Given the description of an element on the screen output the (x, y) to click on. 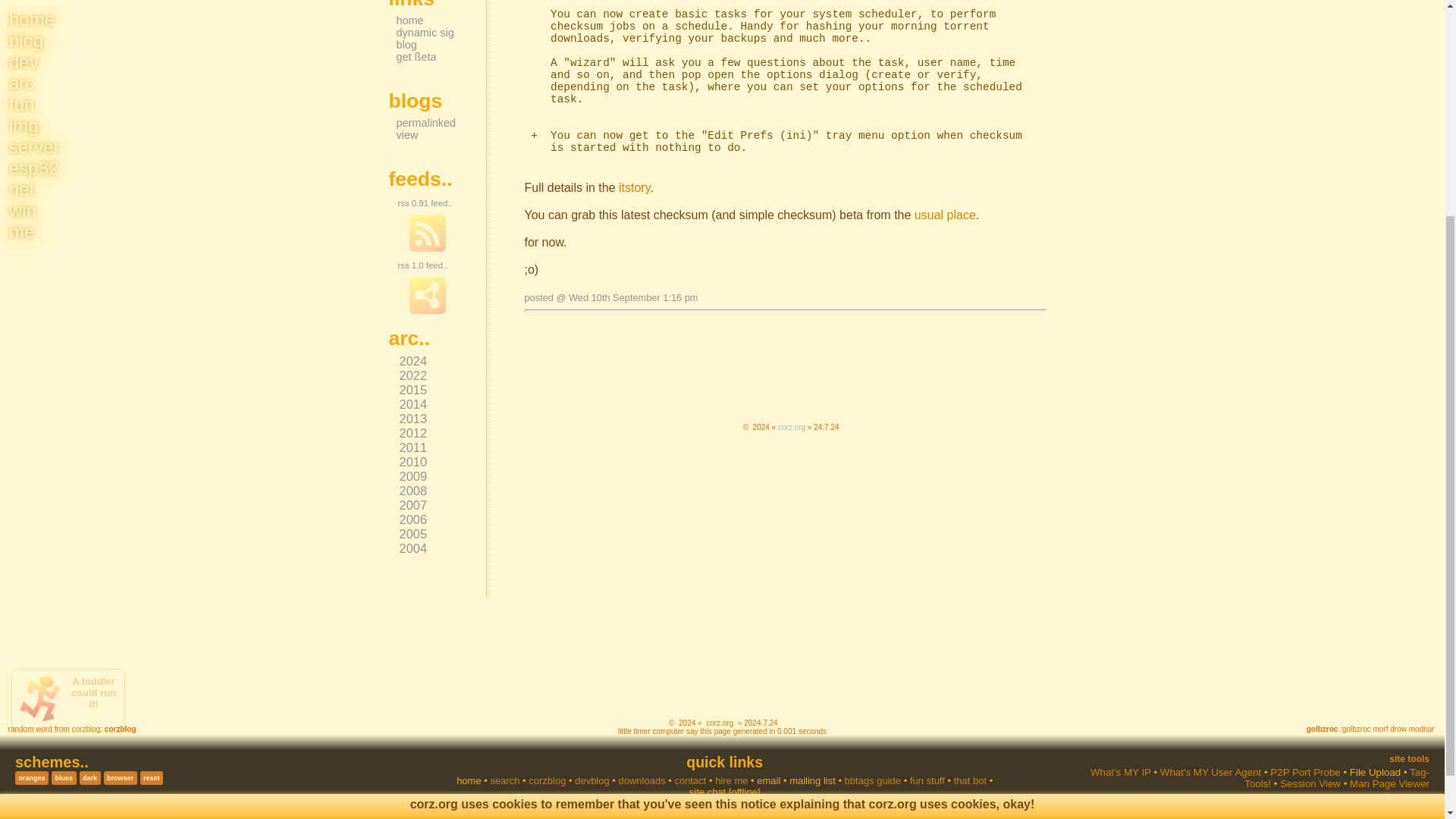
itstory (633, 187)
rss 1.0 feed.. (421, 265)
permalinked view (425, 128)
home (409, 20)
reset (151, 777)
powered by corzblog v3.6b (792, 405)
corz.org (791, 427)
dynamic sig (424, 32)
oranges (31, 777)
dark (90, 777)
tips, tricks, features, fixes.. it's all here (633, 187)
usual place (944, 214)
The hits just keep on coming! (944, 214)
rss 0.91 feed.. (424, 203)
jump to main blog page (791, 427)
